Given the description of an element on the screen output the (x, y) to click on. 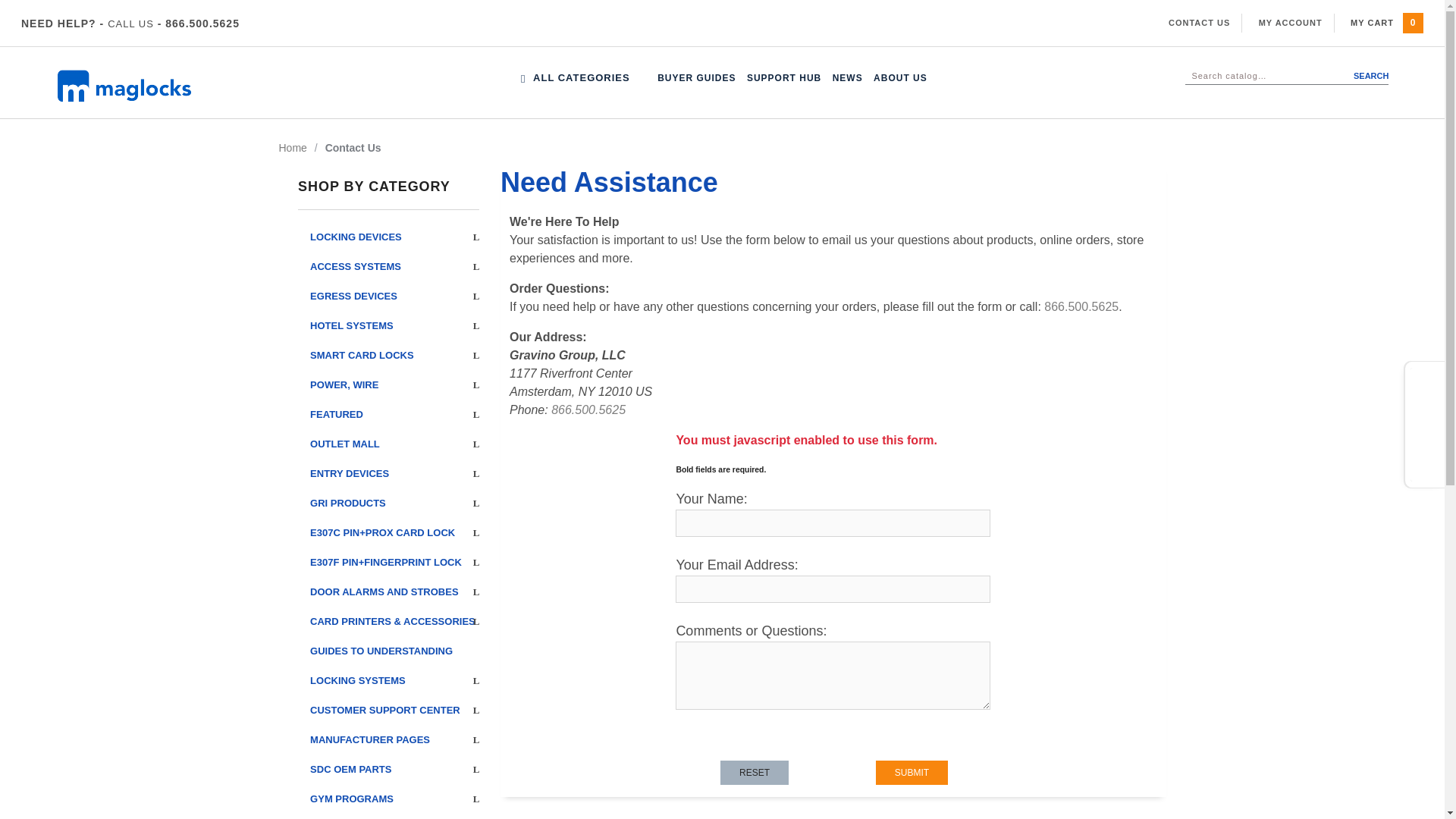
maglocks (167, 85)
My Account (1290, 22)
My Cart (1413, 23)
Contact Us (1199, 22)
Reset (754, 772)
LOCKING DEVICES (41, 48)
Search (1354, 76)
Submit (911, 772)
